Given the description of an element on the screen output the (x, y) to click on. 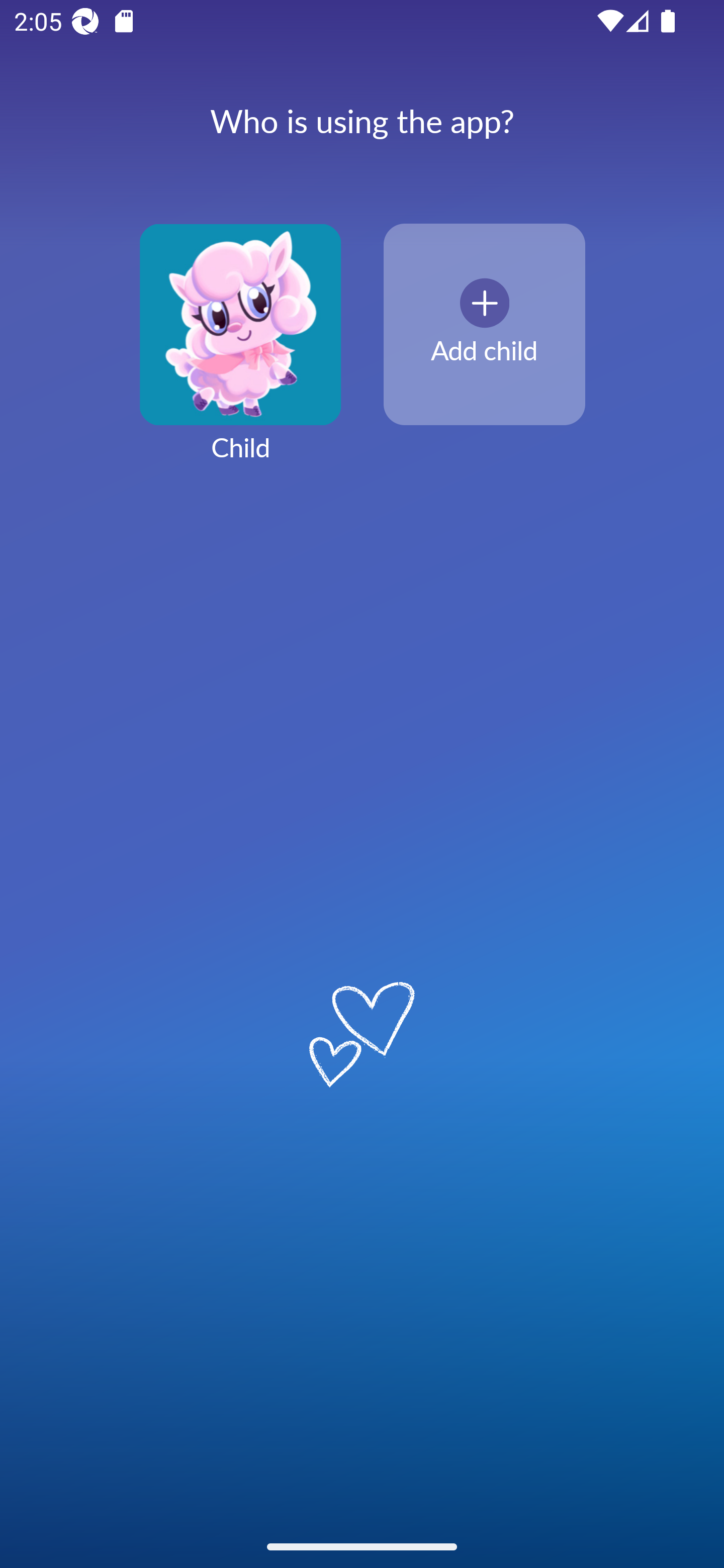
Child (240, 354)
Add child (483, 324)
